Given the description of an element on the screen output the (x, y) to click on. 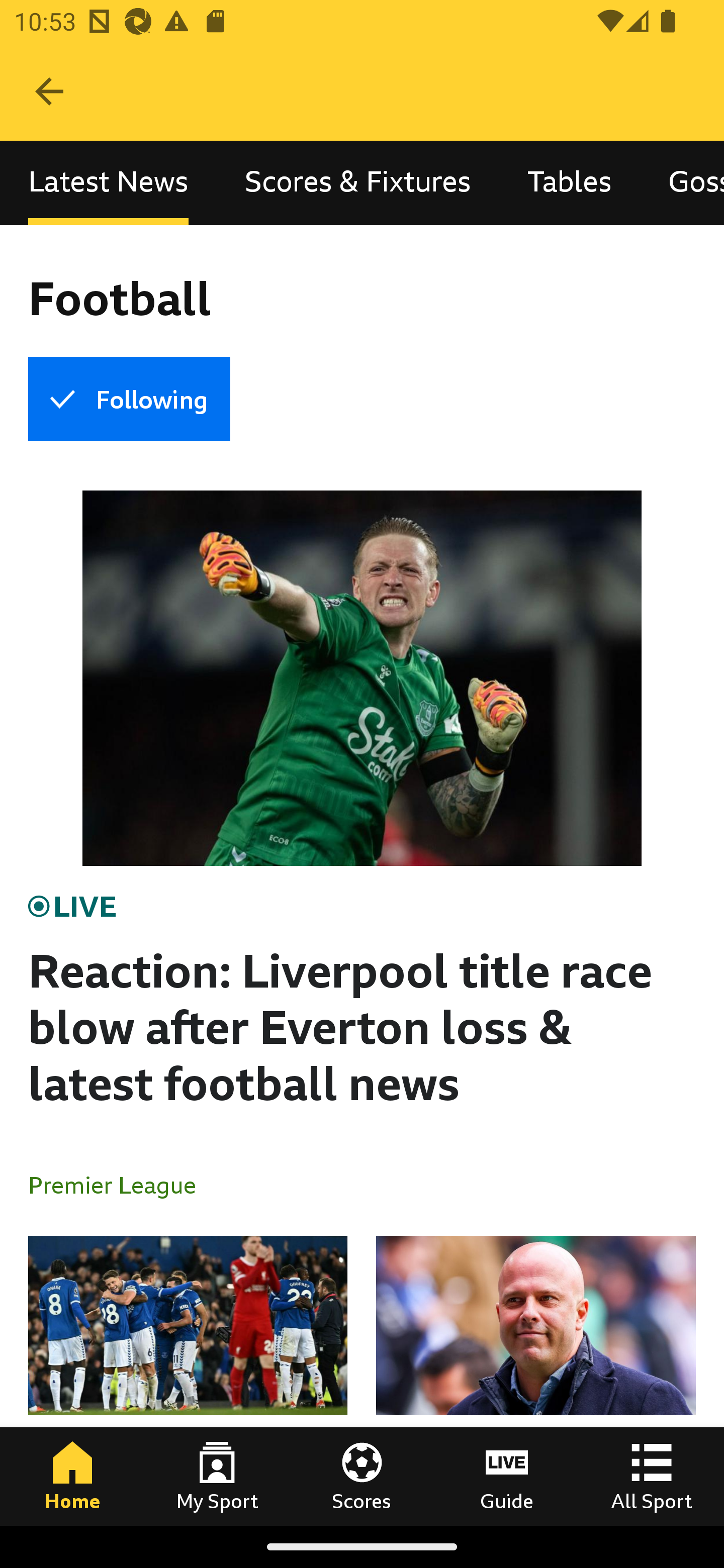
Navigate up (49, 91)
Latest News, selected Latest News (108, 183)
Scores & Fixtures (357, 183)
Tables (569, 183)
Following Football Following (129, 398)
Premier League In the section Premier League (119, 1184)
Slot philosophy could suit Liverpool - Van Dijk (535, 1380)
My Sport (216, 1475)
Scores (361, 1475)
Guide (506, 1475)
All Sport (651, 1475)
